Given the description of an element on the screen output the (x, y) to click on. 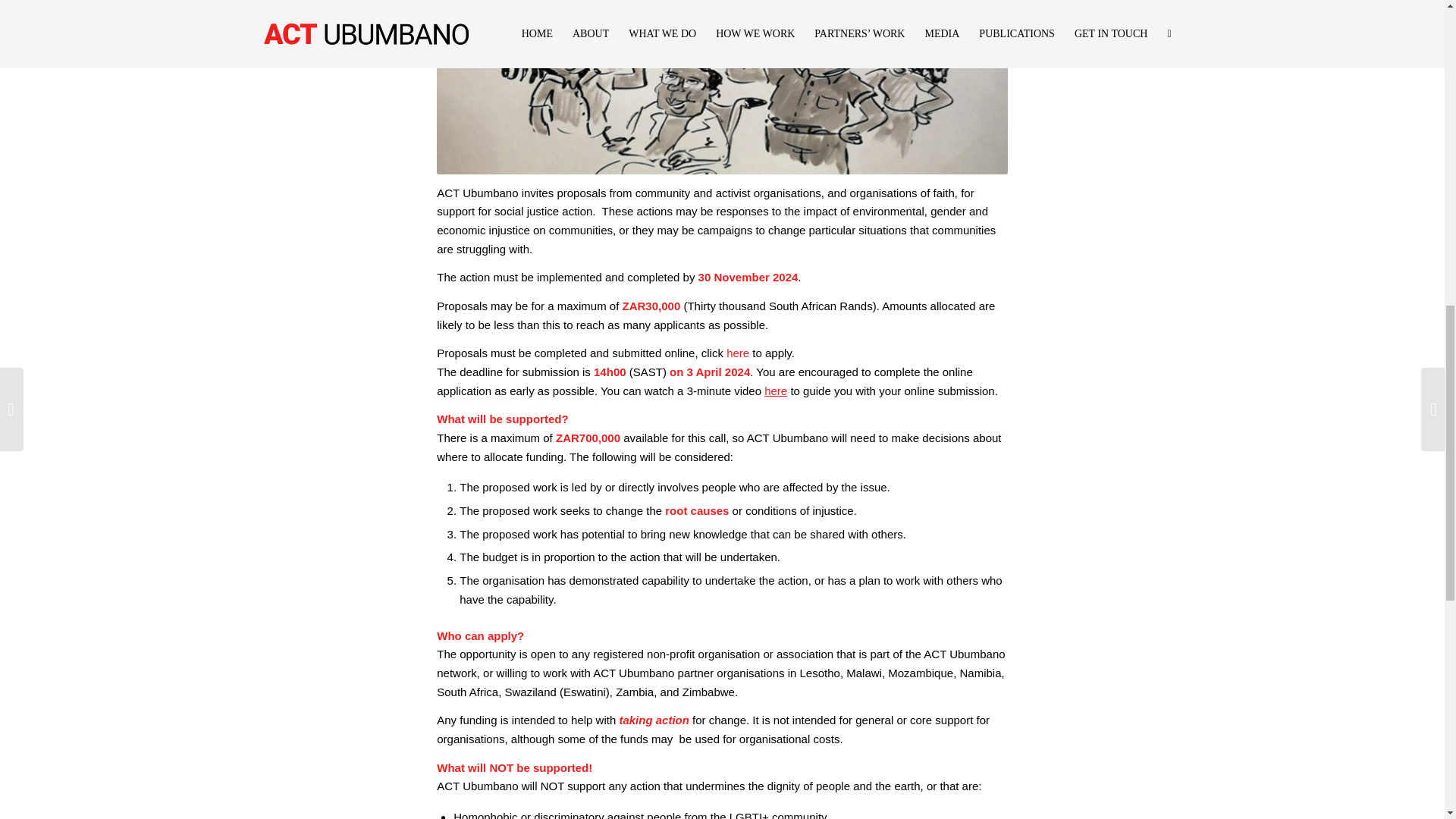
here (775, 390)
here (737, 352)
541dc523-b302-9867-74c9-ea39e3331e43 (721, 87)
